Given the description of an element on the screen output the (x, y) to click on. 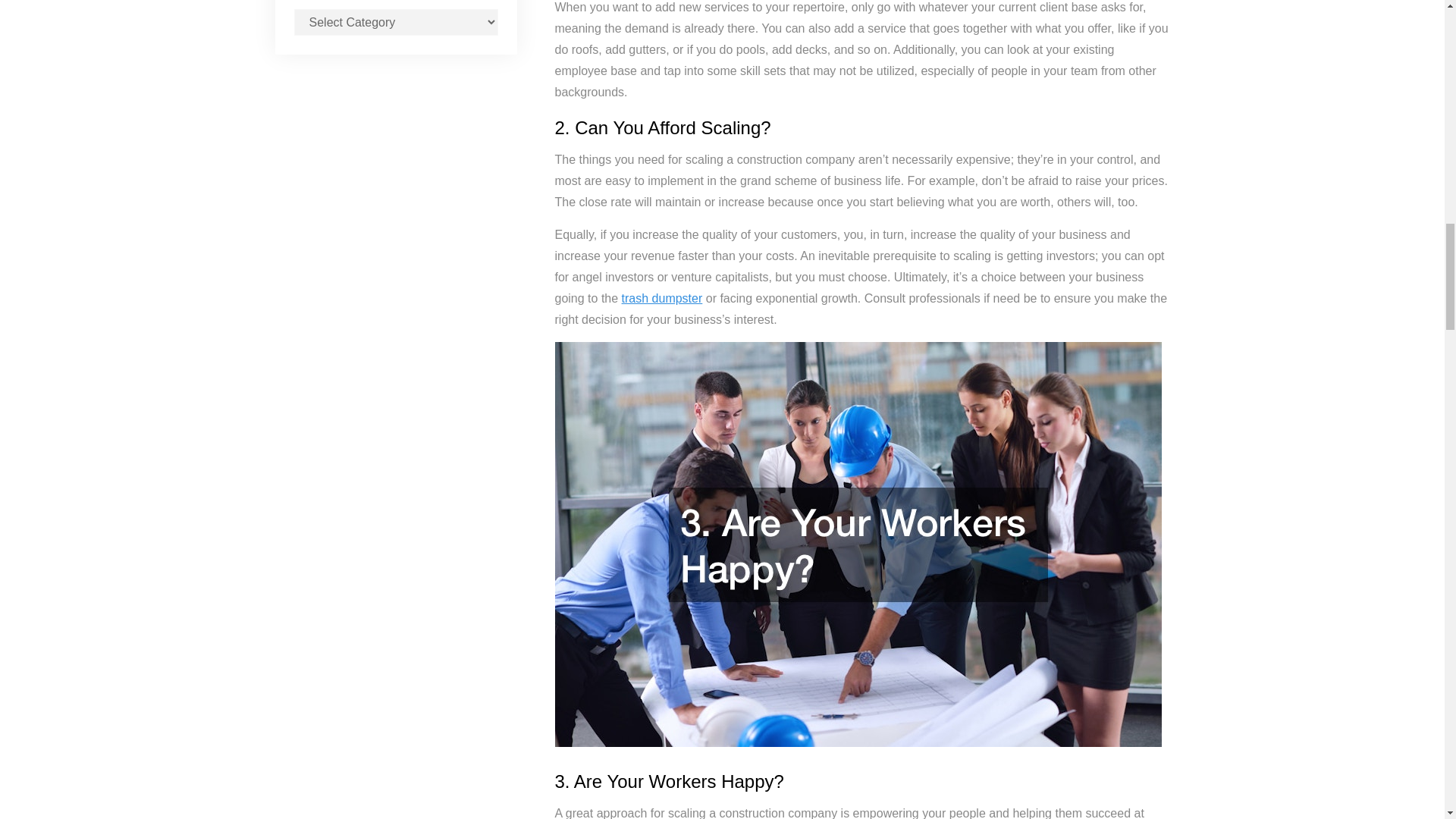
trash dumpster (662, 297)
